Given the description of an element on the screen output the (x, y) to click on. 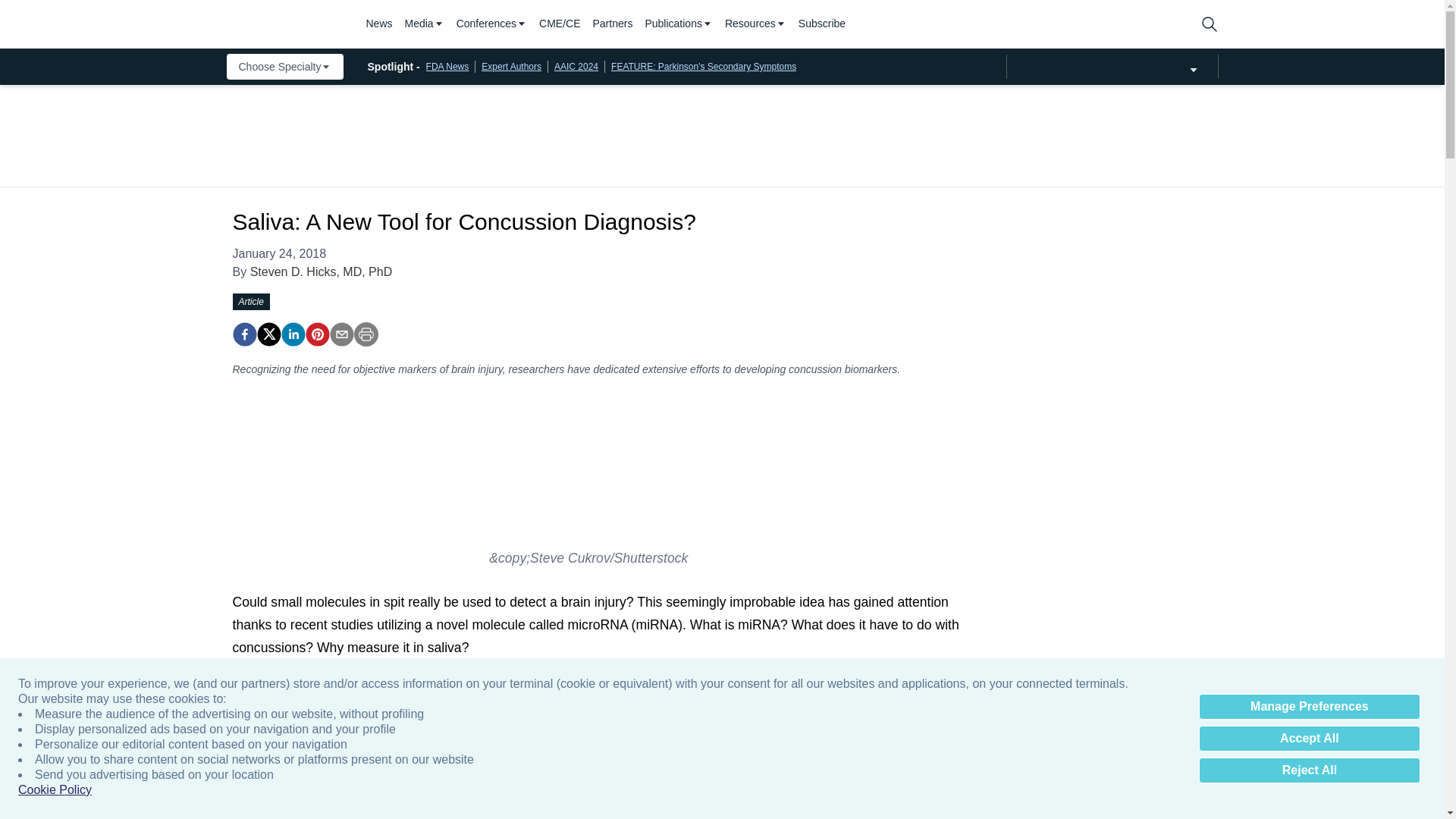
Reject All (1309, 769)
News (378, 23)
Accept All (1309, 738)
Media (424, 23)
Resources (755, 23)
Manage Preferences (1309, 706)
Publications (679, 23)
Conferences (492, 23)
Saliva: A New Tool for Concussion Diagnosis? (316, 334)
Saliva: A New Tool for Concussion Diagnosis? (243, 334)
